Given the description of an element on the screen output the (x, y) to click on. 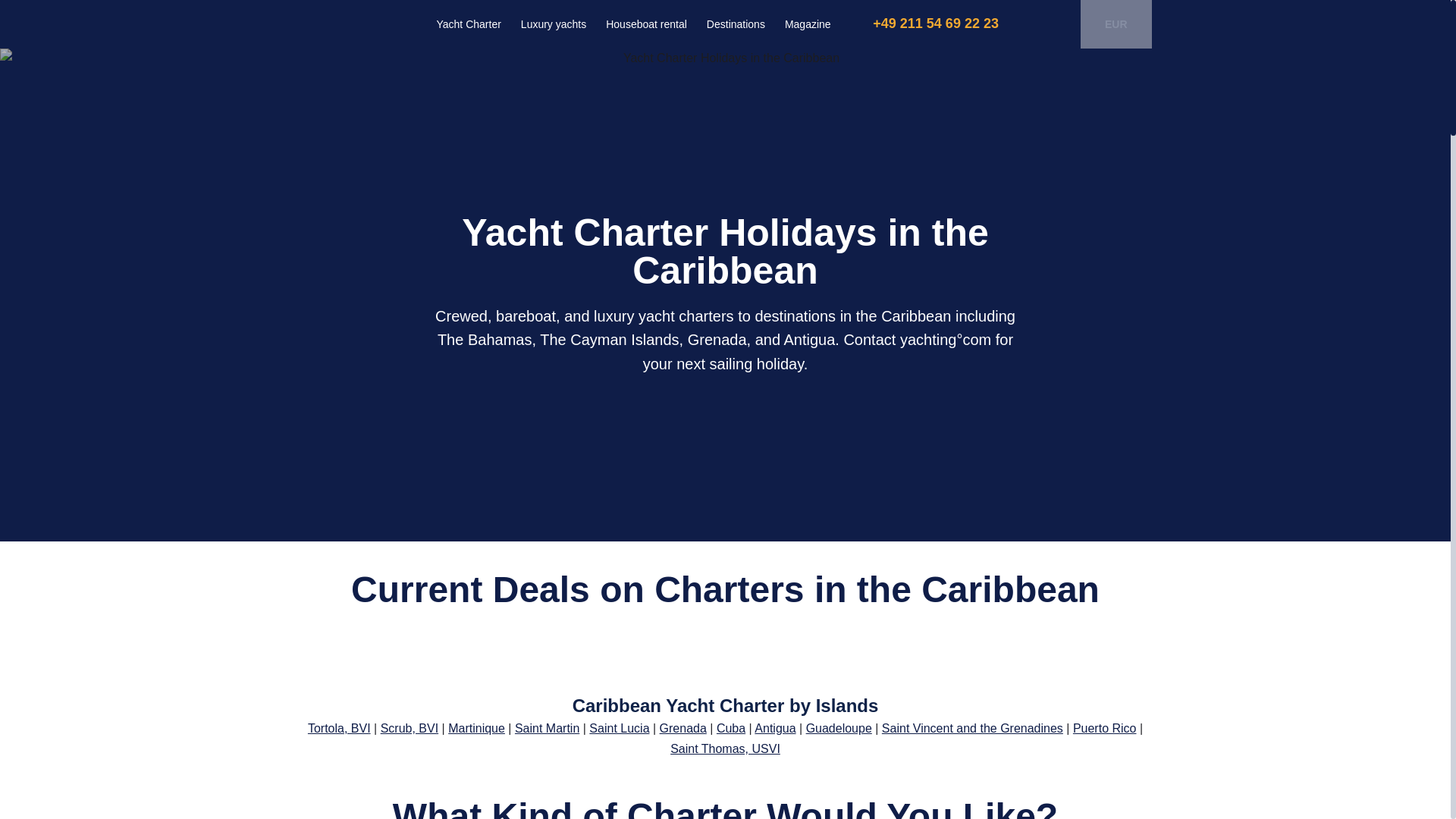
Scrub, BVI (409, 727)
Houseboat rental (646, 24)
Destinations (735, 24)
Luxury yachts (553, 24)
EUR (1103, 24)
Saint Lucia (619, 727)
Antigua (774, 727)
Saint Thomas, USVI (724, 748)
Houseboat rental (646, 24)
Yacht Charter (468, 24)
